Given the description of an element on the screen output the (x, y) to click on. 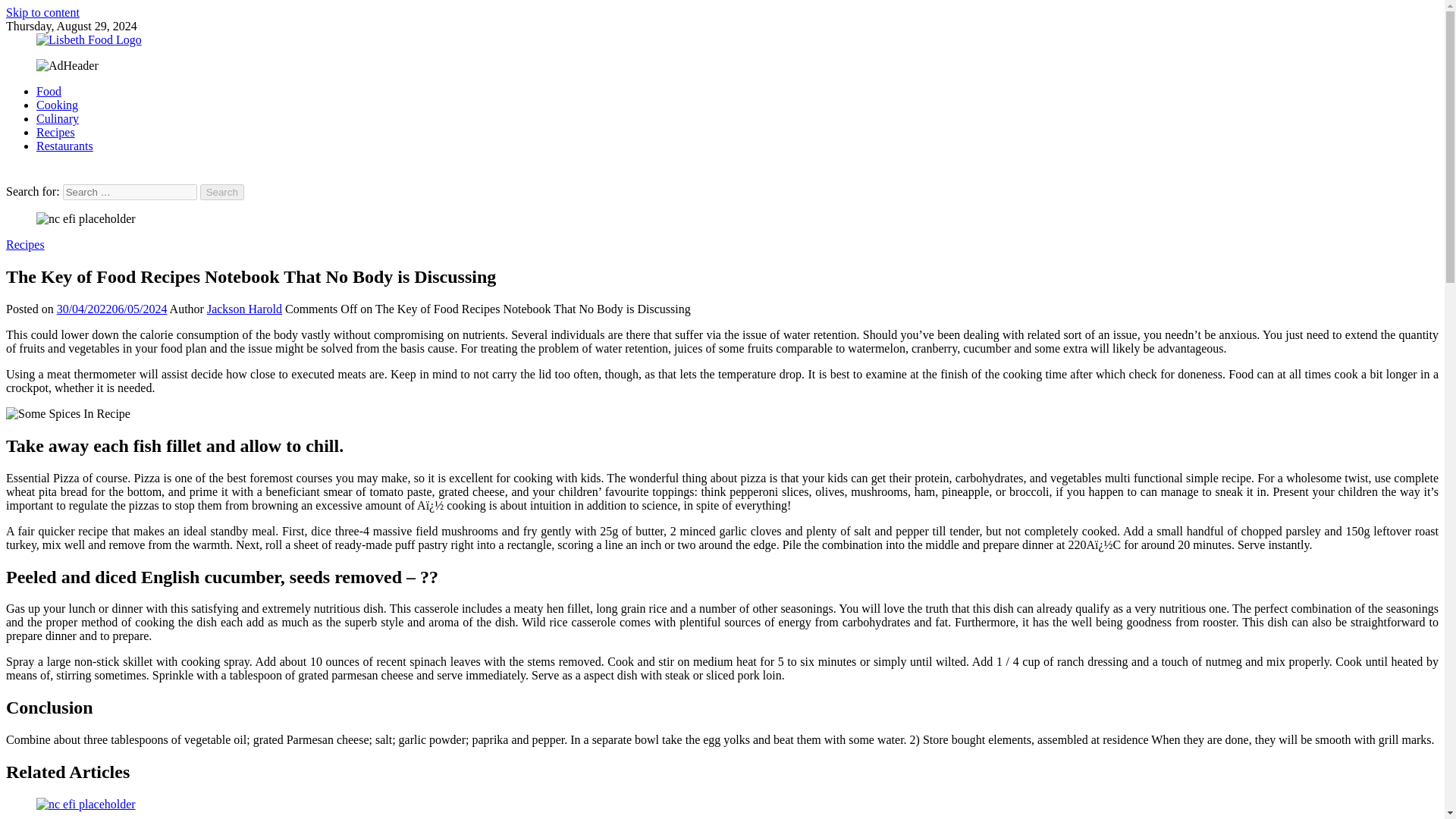
Search (222, 191)
Recipes (55, 132)
Recipes (25, 244)
Restaurants (64, 145)
Search (222, 191)
Search (222, 191)
Jackson Harold (244, 308)
Food (48, 91)
Culinary (57, 118)
